Given the description of an element on the screen output the (x, y) to click on. 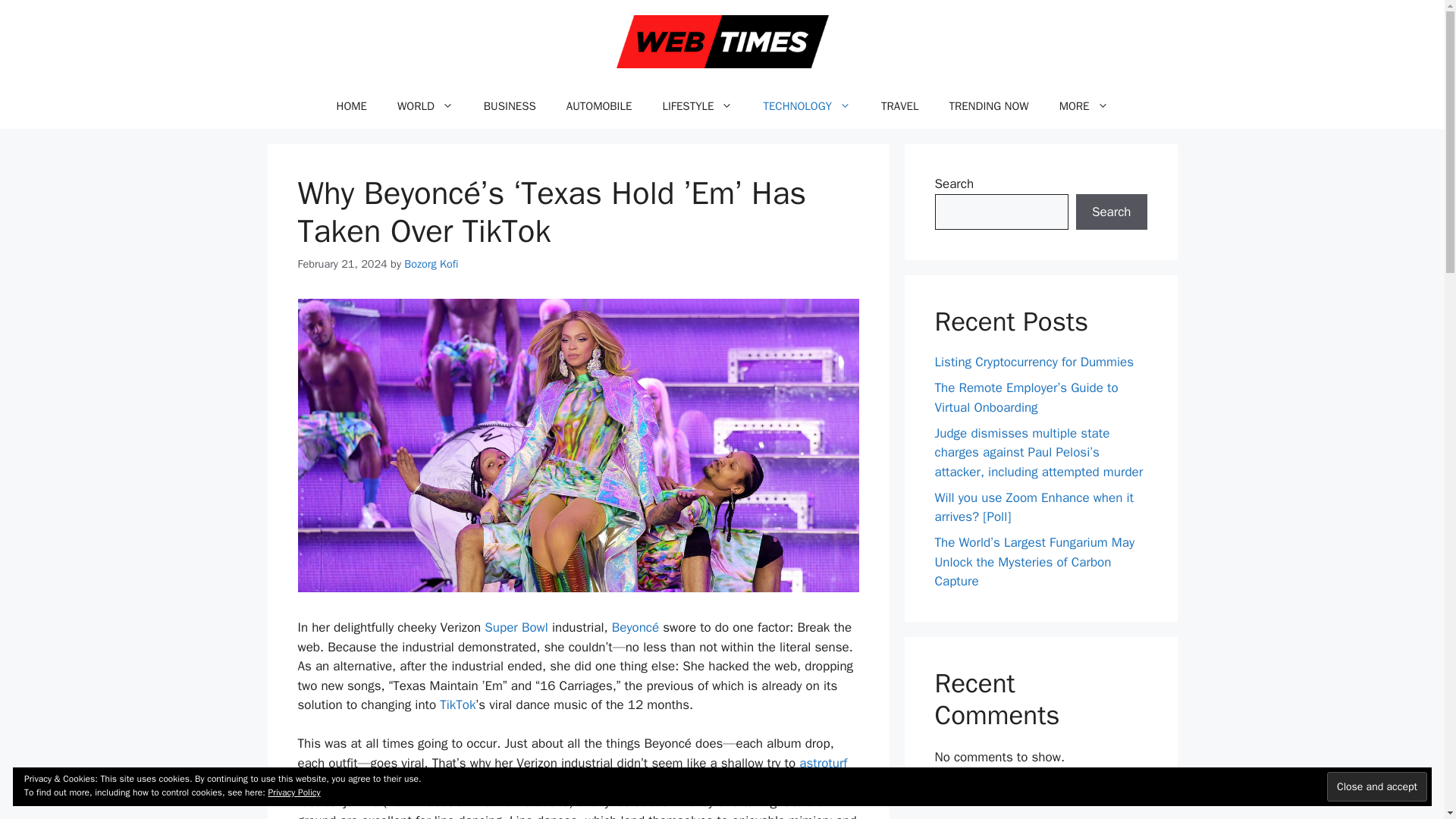
Close and accept (1376, 786)
WORLD (424, 105)
AUTOMOBILE (599, 105)
MORE (1083, 105)
LIFESTYLE (697, 105)
TRAVEL (899, 105)
Bozorg Kofi (431, 264)
Super Bowl (516, 627)
TRENDING NOW (988, 105)
HOME (351, 105)
